Given the description of an element on the screen output the (x, y) to click on. 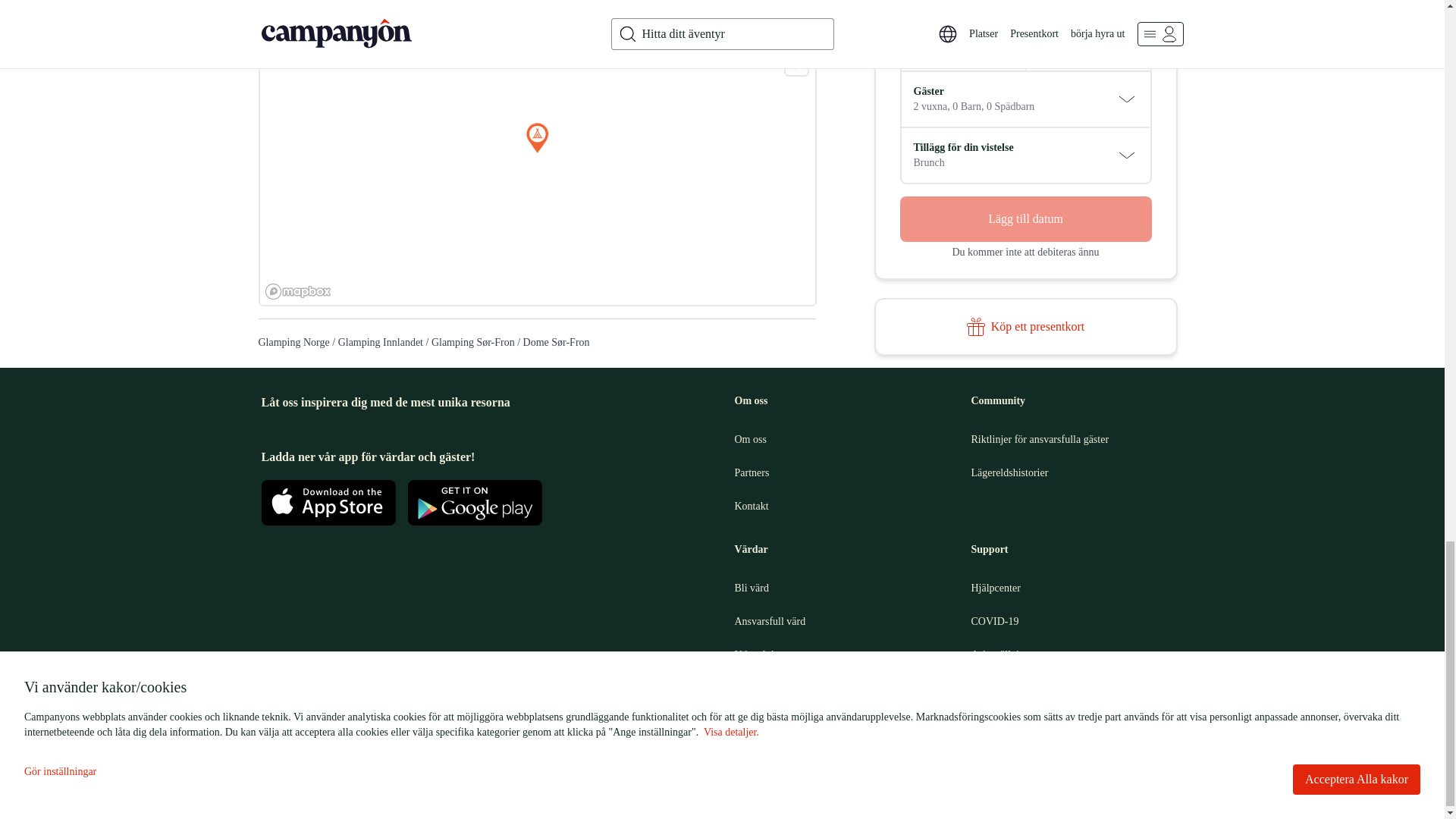
Glamping Innlandet (380, 342)
Zoom out (797, 42)
Reset bearing to north (797, 64)
Glamping Norge (293, 342)
Zoom in (797, 20)
